Given the description of an element on the screen output the (x, y) to click on. 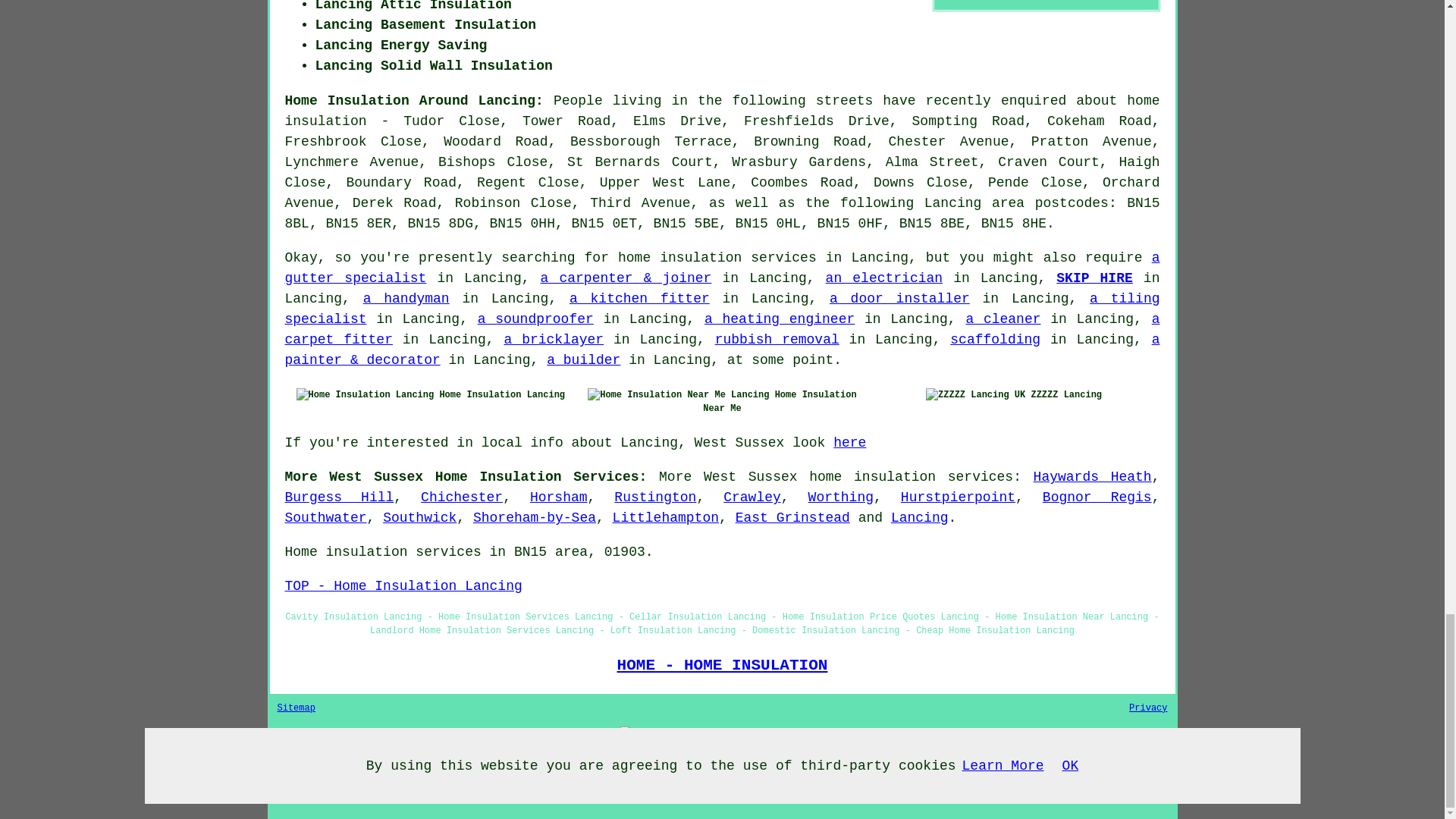
Home Insulation Lancing (365, 395)
QUOTES FROM HOME INSULATION LANCING (722, 733)
ZZZZZ Lancing UK (975, 395)
Home Insulation Near Me Lancing West Sussex (678, 395)
